Given the description of an element on the screen output the (x, y) to click on. 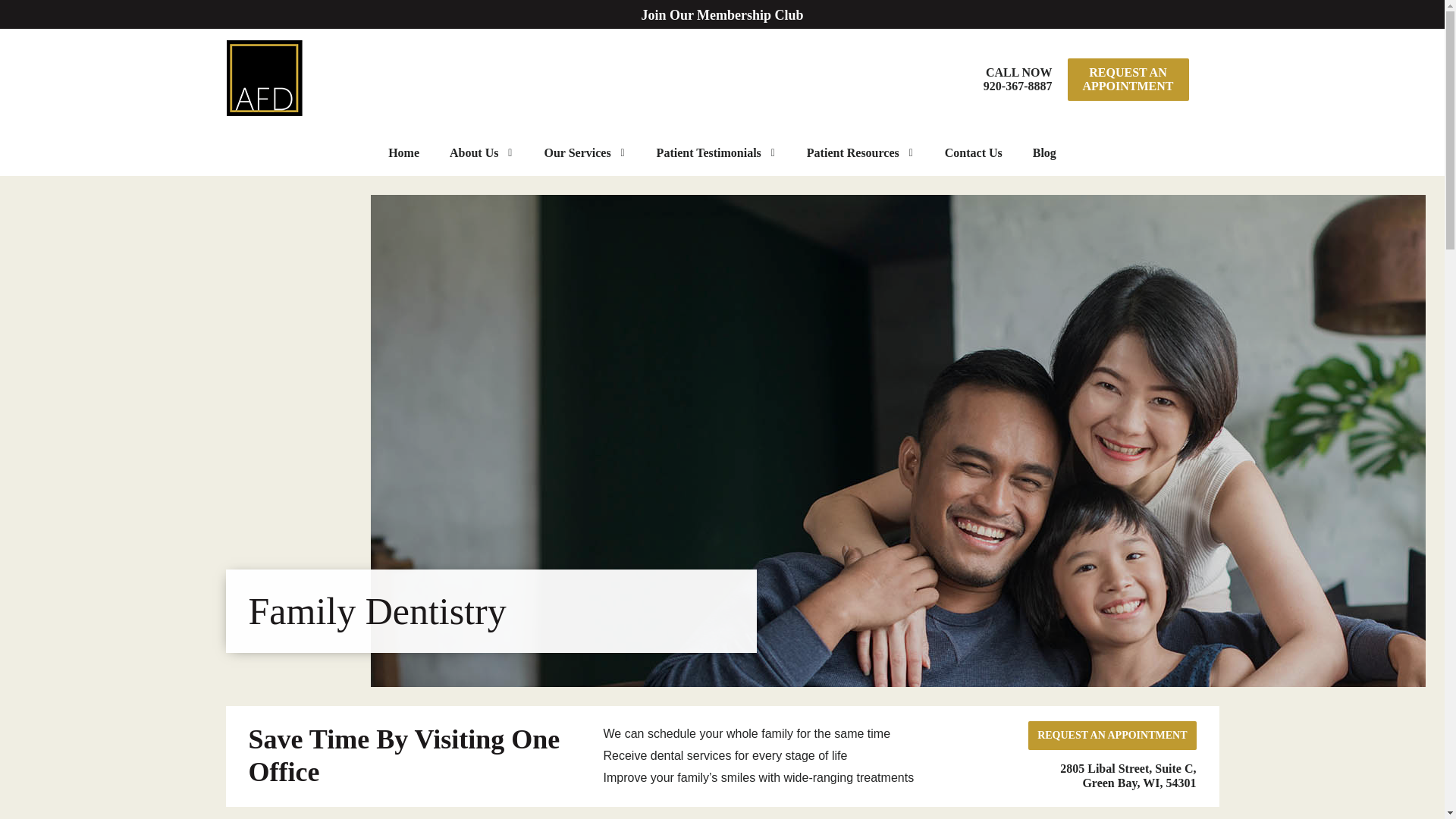
About Us (480, 153)
REQUEST AN APPOINTMENT (1018, 79)
Join Our Membership Club (1128, 79)
